Given the description of an element on the screen output the (x, y) to click on. 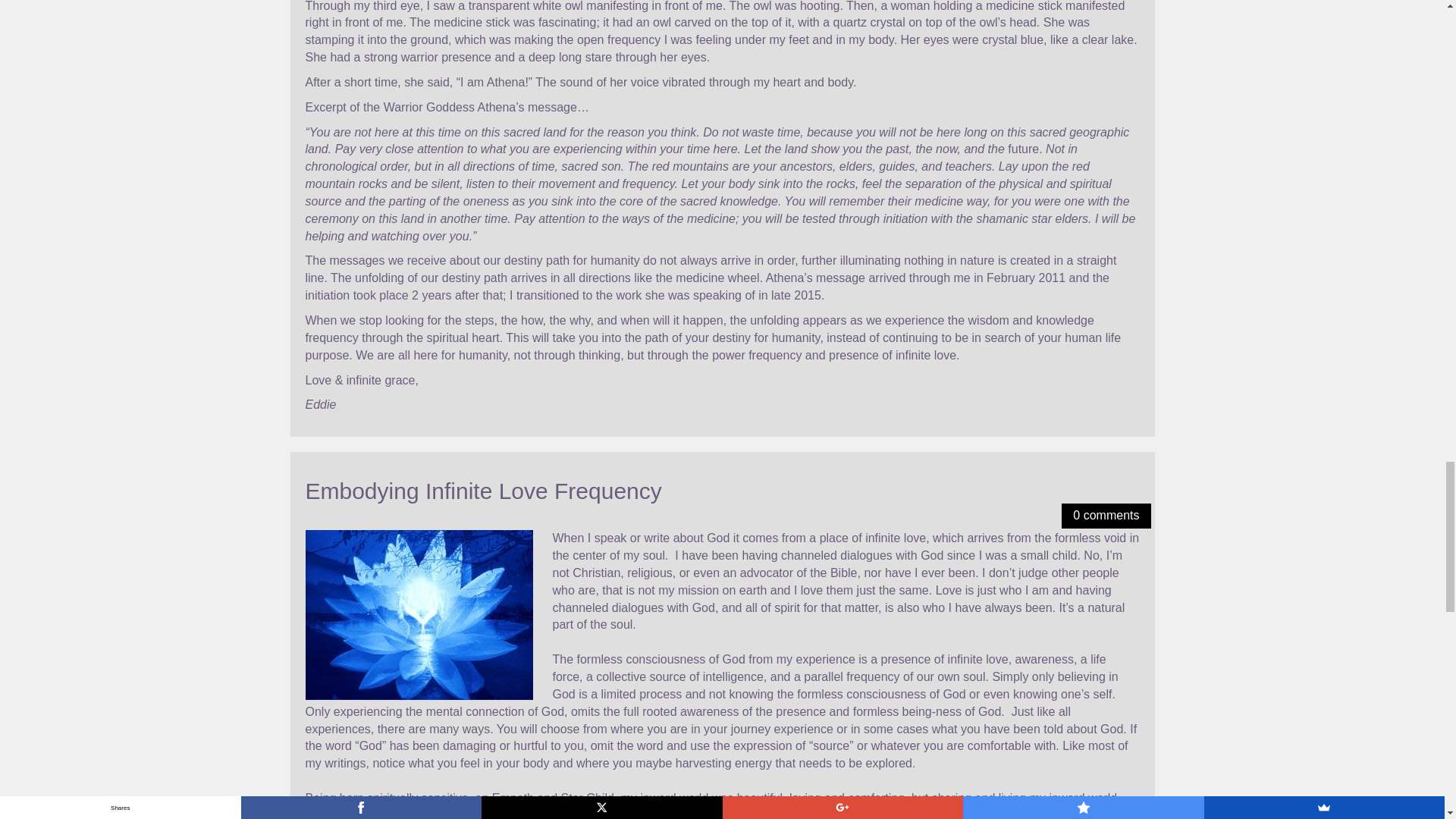
Embodying Infinite Love Frequency (482, 490)
